Given the description of an element on the screen output the (x, y) to click on. 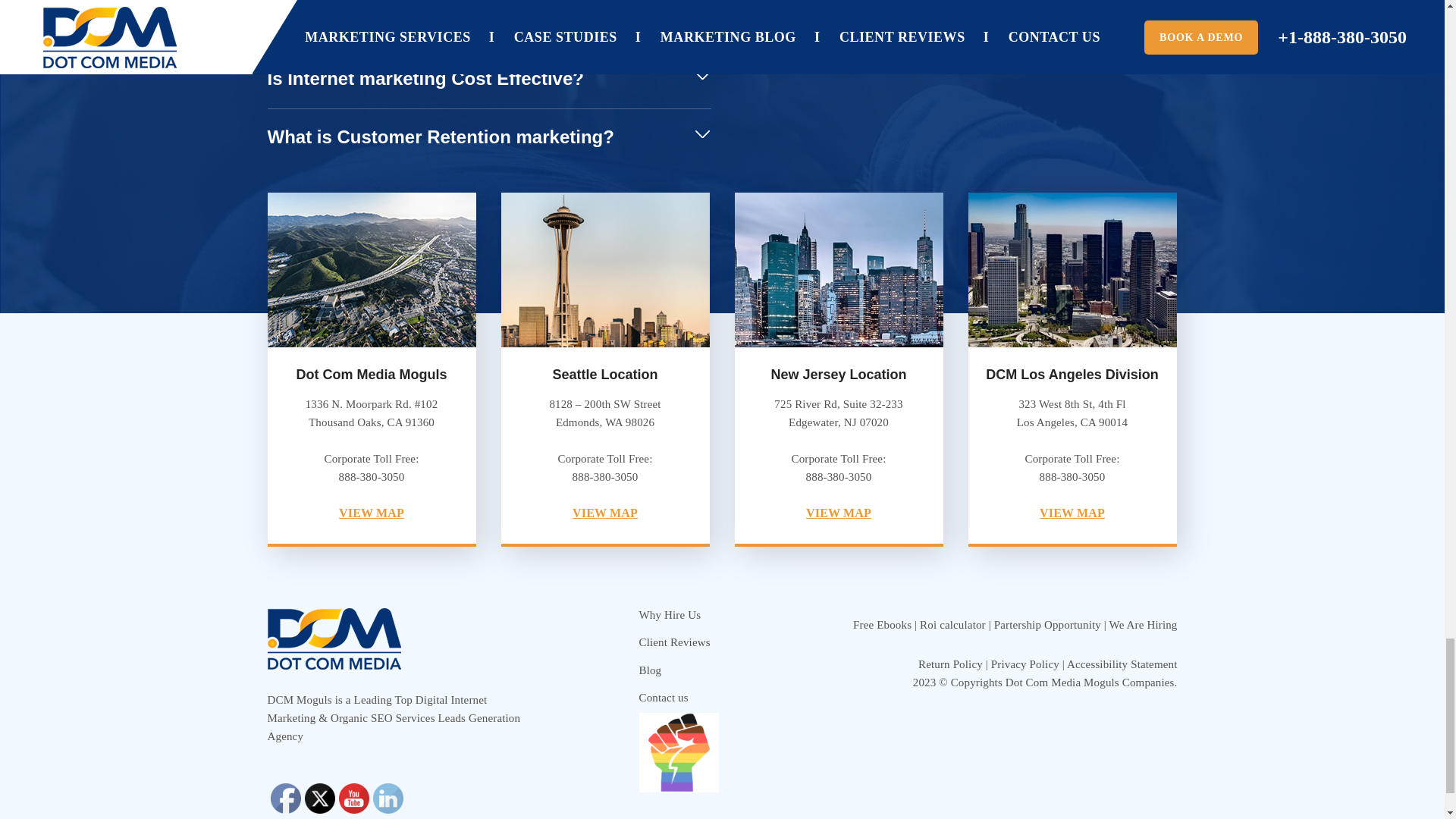
Twitter (319, 798)
LinkedIn (387, 798)
Facebook (284, 798)
YouTube (352, 798)
